Given the description of an element on the screen output the (x, y) to click on. 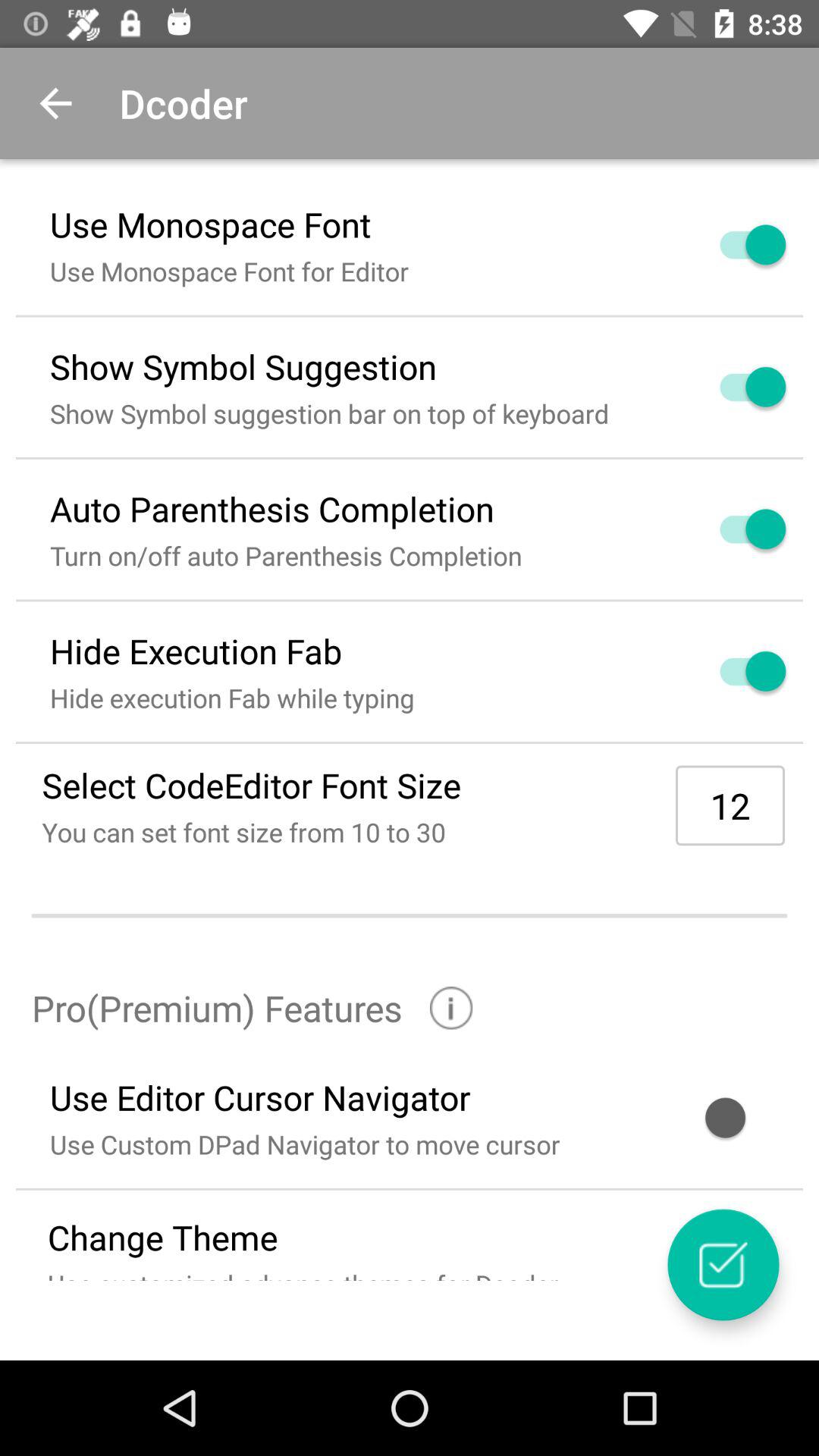
select the icon above use monospace font (55, 103)
